Given the description of an element on the screen output the (x, y) to click on. 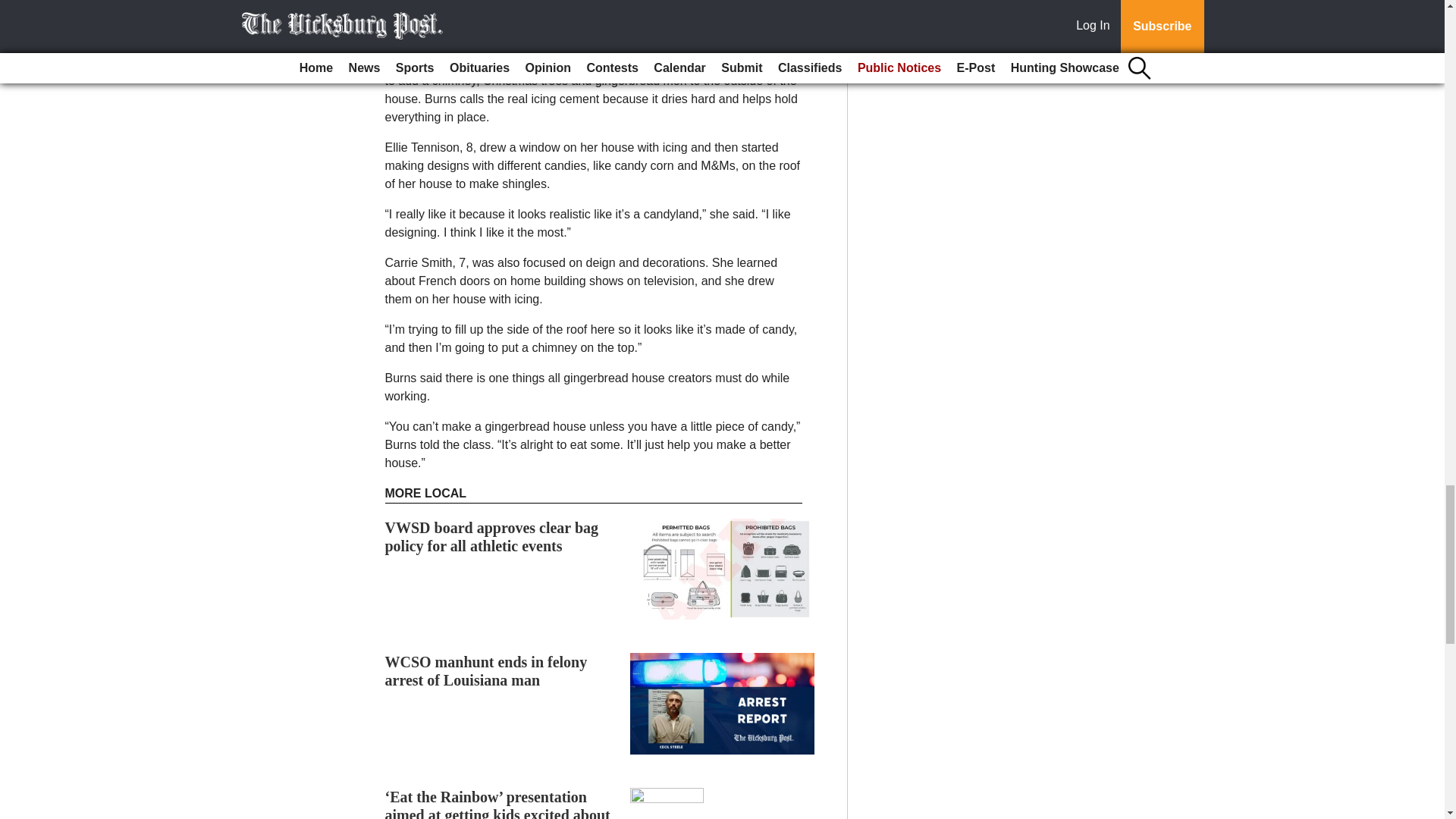
VWSD board approves clear bag policy for all athletic events (491, 536)
WCSO manhunt ends in felony arrest of Louisiana man (486, 670)
WCSO manhunt ends in felony arrest of Louisiana man (486, 670)
VWSD board approves clear bag policy for all athletic events (491, 536)
